Given the description of an element on the screen output the (x, y) to click on. 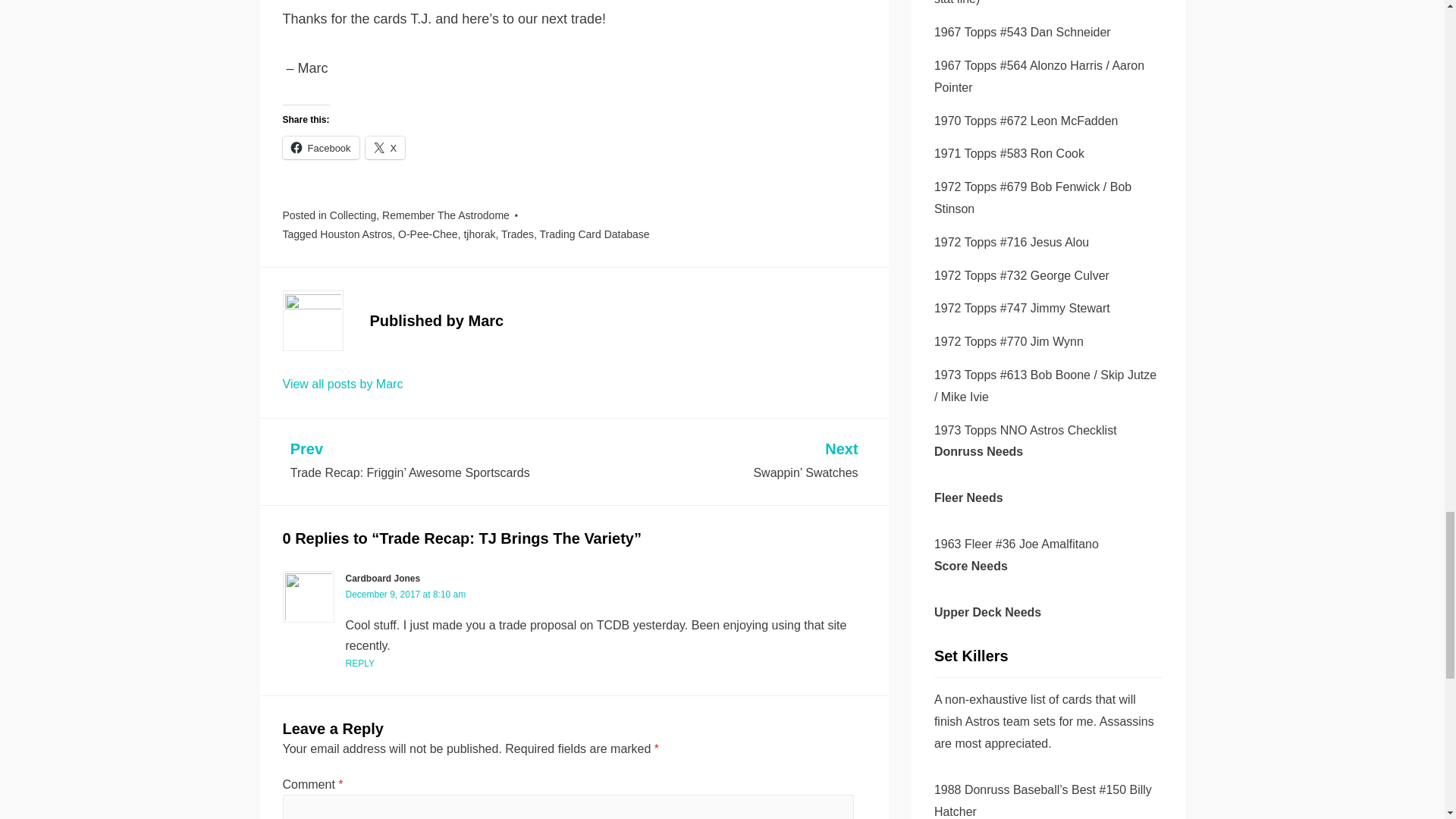
Trading Card Database (594, 234)
Facebook (320, 147)
Click to share on X (385, 147)
tjhorak (479, 234)
Remember The Astrodome (445, 215)
Houston Astros (355, 234)
O-Pee-Chee (427, 234)
Cardboard Jones (383, 578)
REPLY (360, 663)
December 9, 2017 at 8:10 am (405, 593)
Collecting (352, 215)
View all posts by Marc (342, 383)
Click to share on Facebook (320, 147)
X (385, 147)
Trades (517, 234)
